Given the description of an element on the screen output the (x, y) to click on. 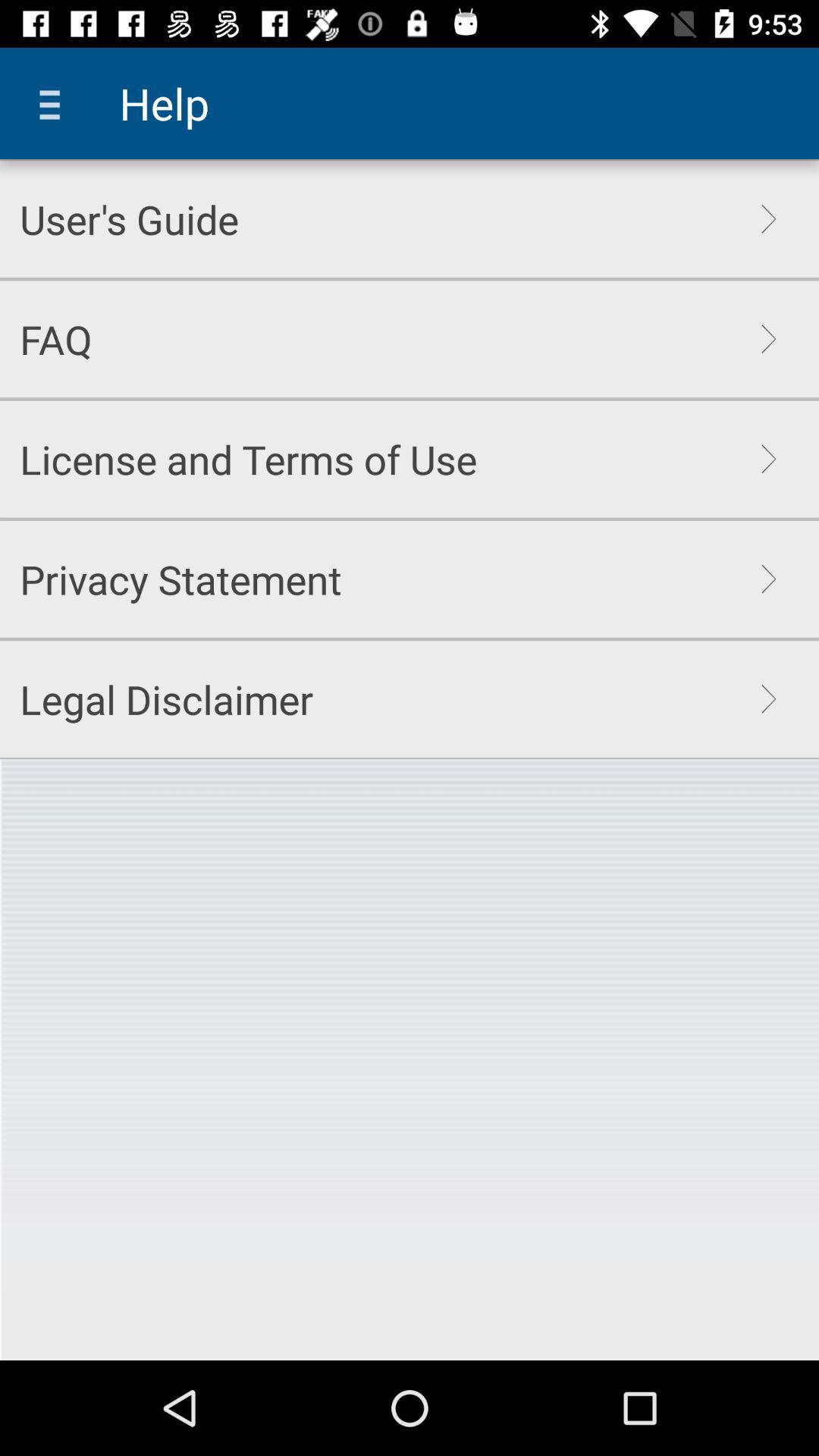
choose the faq icon (56, 338)
